Given the description of an element on the screen output the (x, y) to click on. 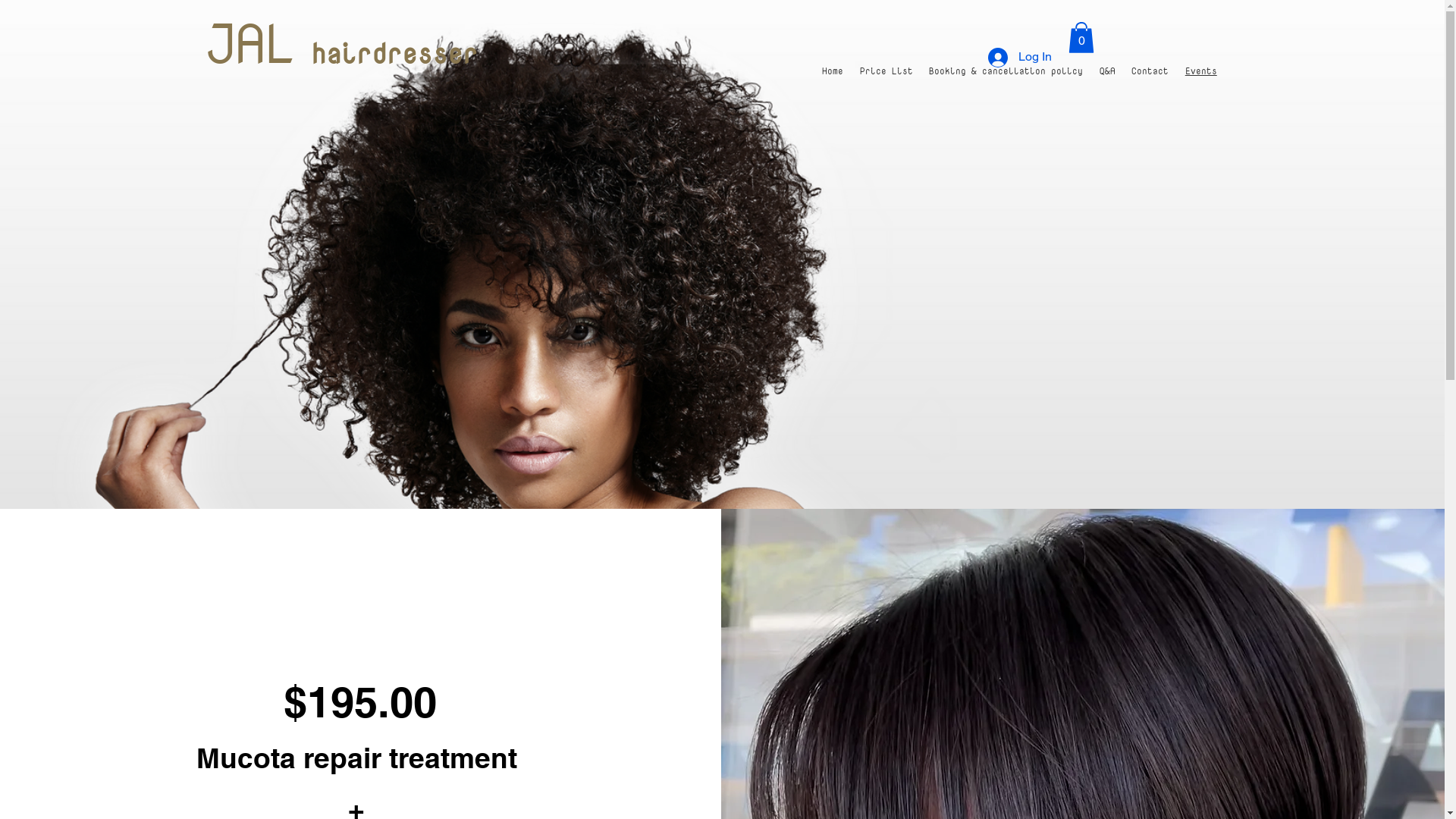
Q&A Element type: text (1107, 71)
0 Element type: text (1080, 37)
Price List Element type: text (886, 71)
Log In Element type: text (1018, 57)
Events Element type: text (1200, 71)
Home Element type: text (833, 71)
Booking & cancellation policy Element type: text (1005, 71)
Contact Element type: text (1150, 71)
